Given the description of an element on the screen output the (x, y) to click on. 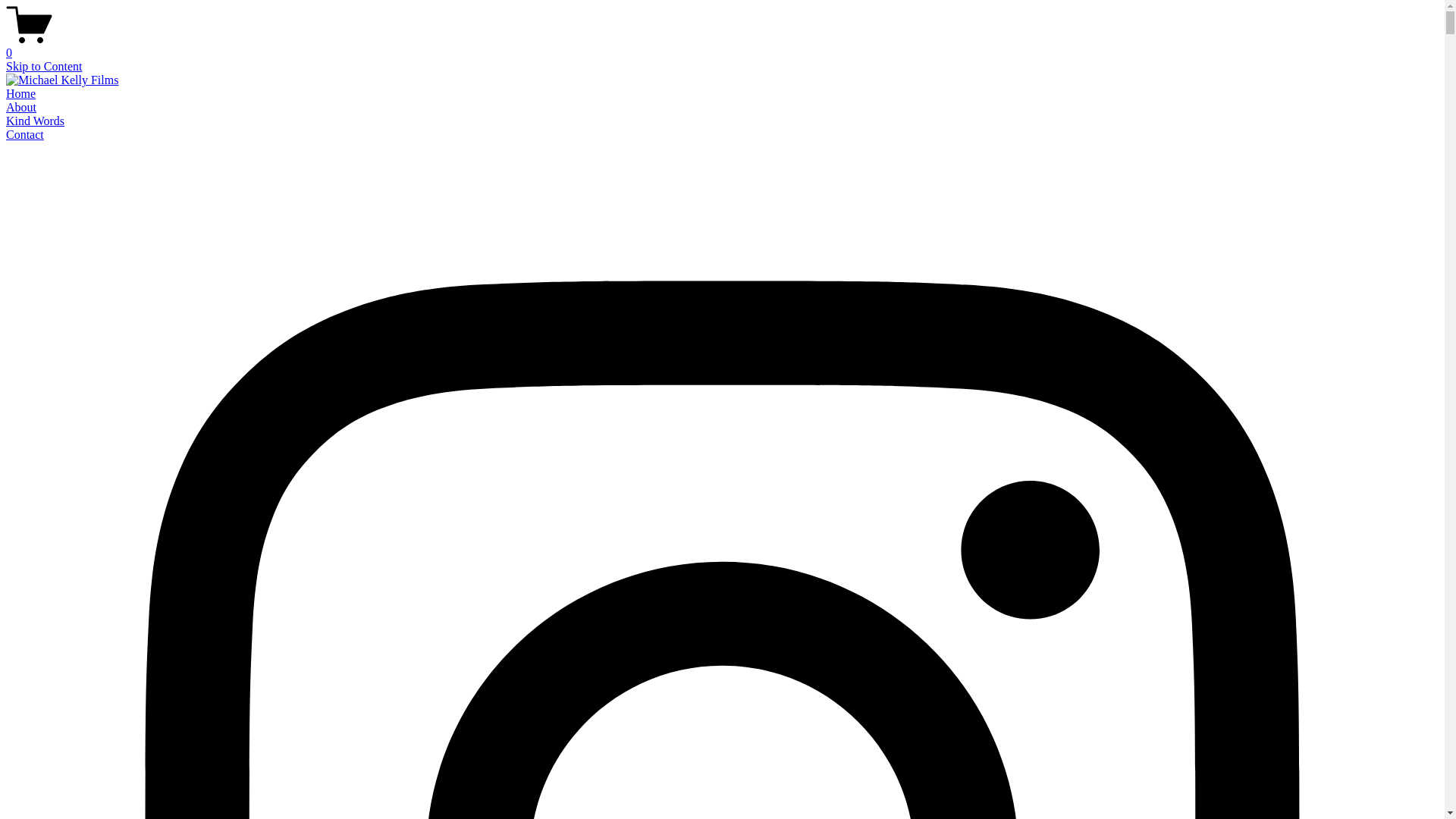
Home Element type: text (20, 93)
About Element type: text (21, 106)
Kind Words Element type: text (35, 120)
Skip to Content Element type: text (43, 65)
Contact Element type: text (24, 134)
0 Element type: text (722, 45)
